Given the description of an element on the screen output the (x, y) to click on. 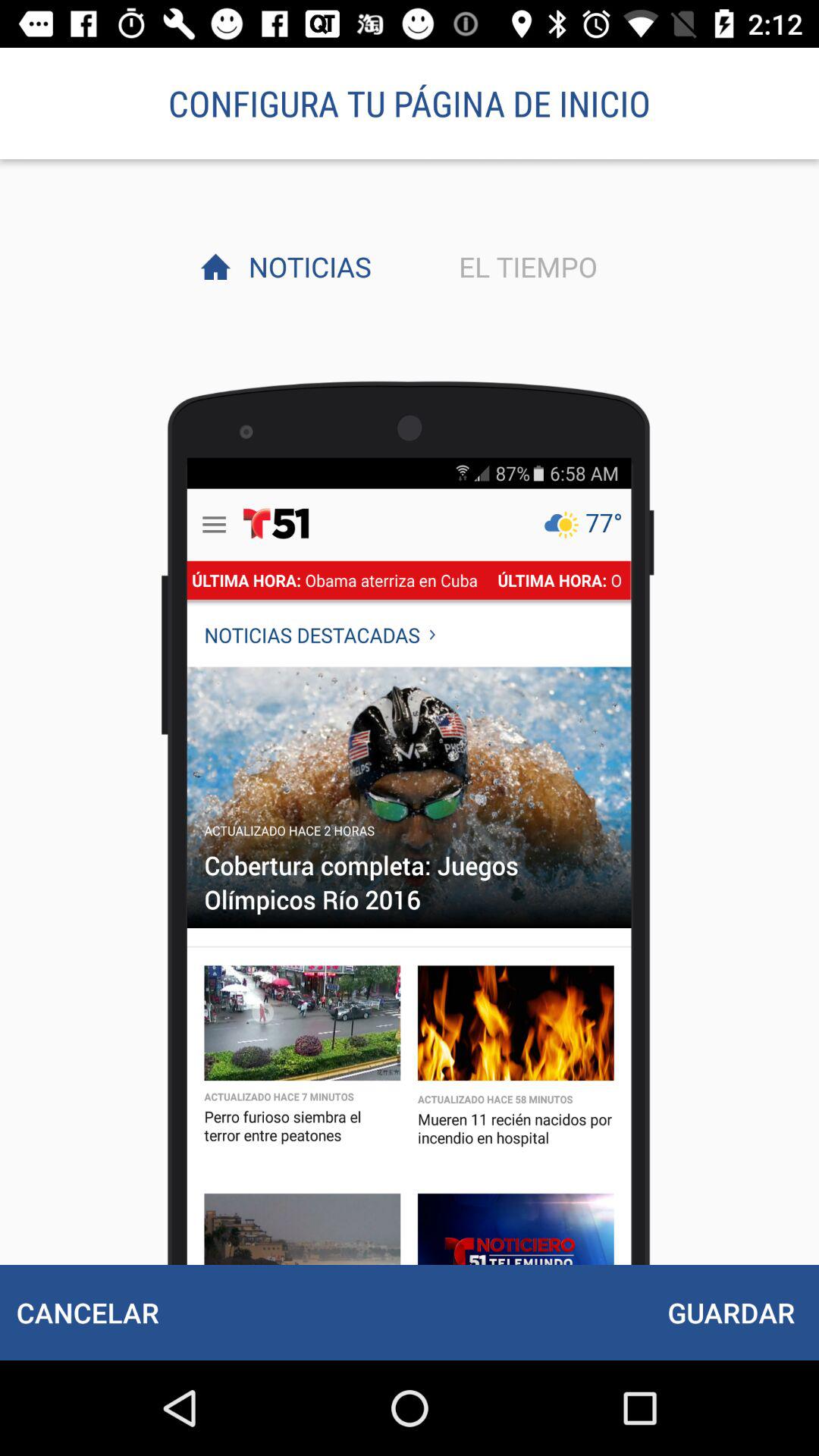
turn off icon at the bottom left corner (87, 1312)
